Given the description of an element on the screen output the (x, y) to click on. 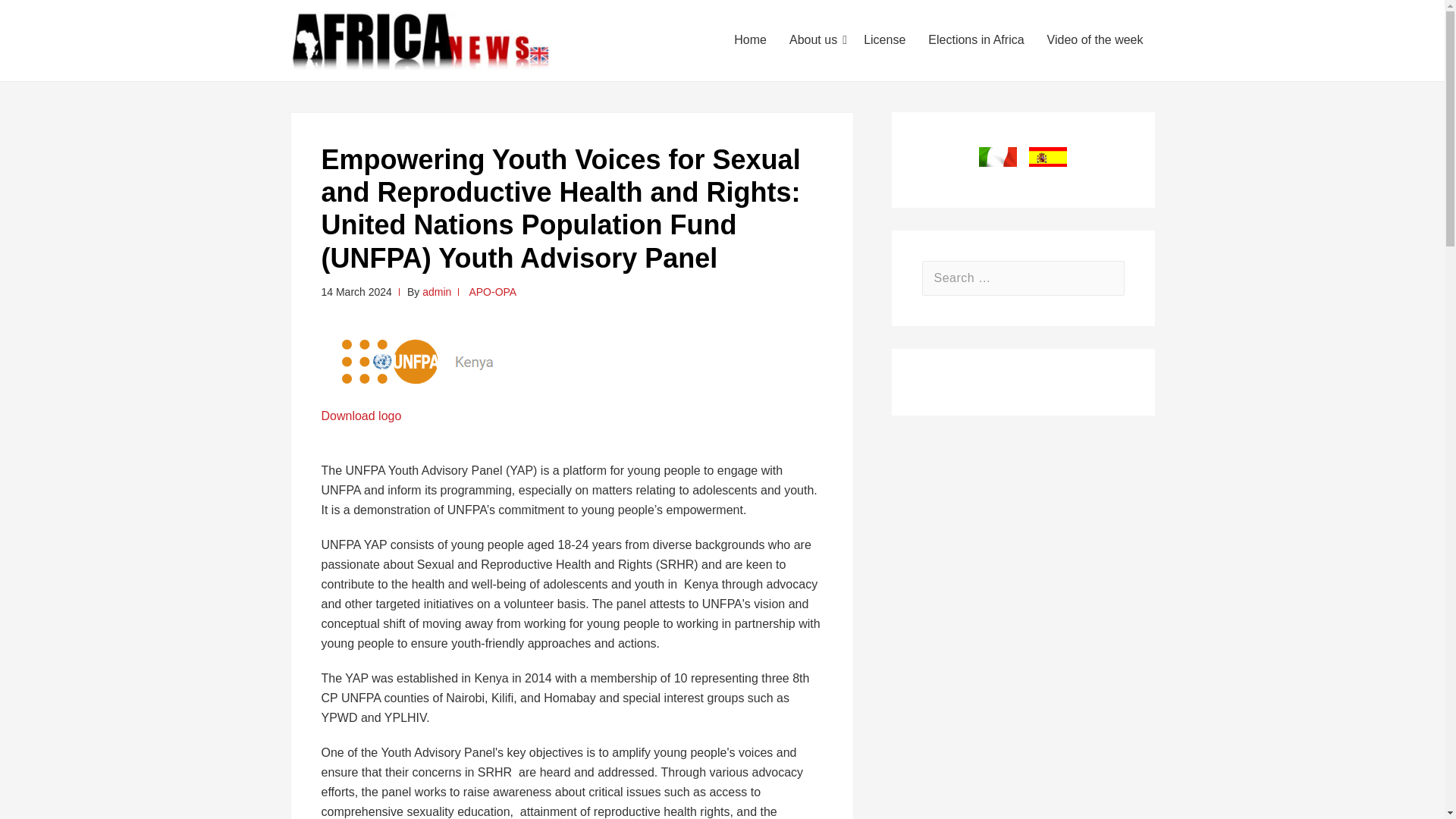
Elections in Africa (976, 39)
APO-OPA (492, 291)
View all posts by admin (436, 291)
Search (1106, 278)
Download logo (361, 415)
Search (1106, 278)
Video of the week (1094, 39)
License (884, 39)
africanews.es (1048, 157)
Search (1106, 278)
About us (814, 39)
Home (749, 39)
admin (436, 291)
